Given the description of an element on the screen output the (x, y) to click on. 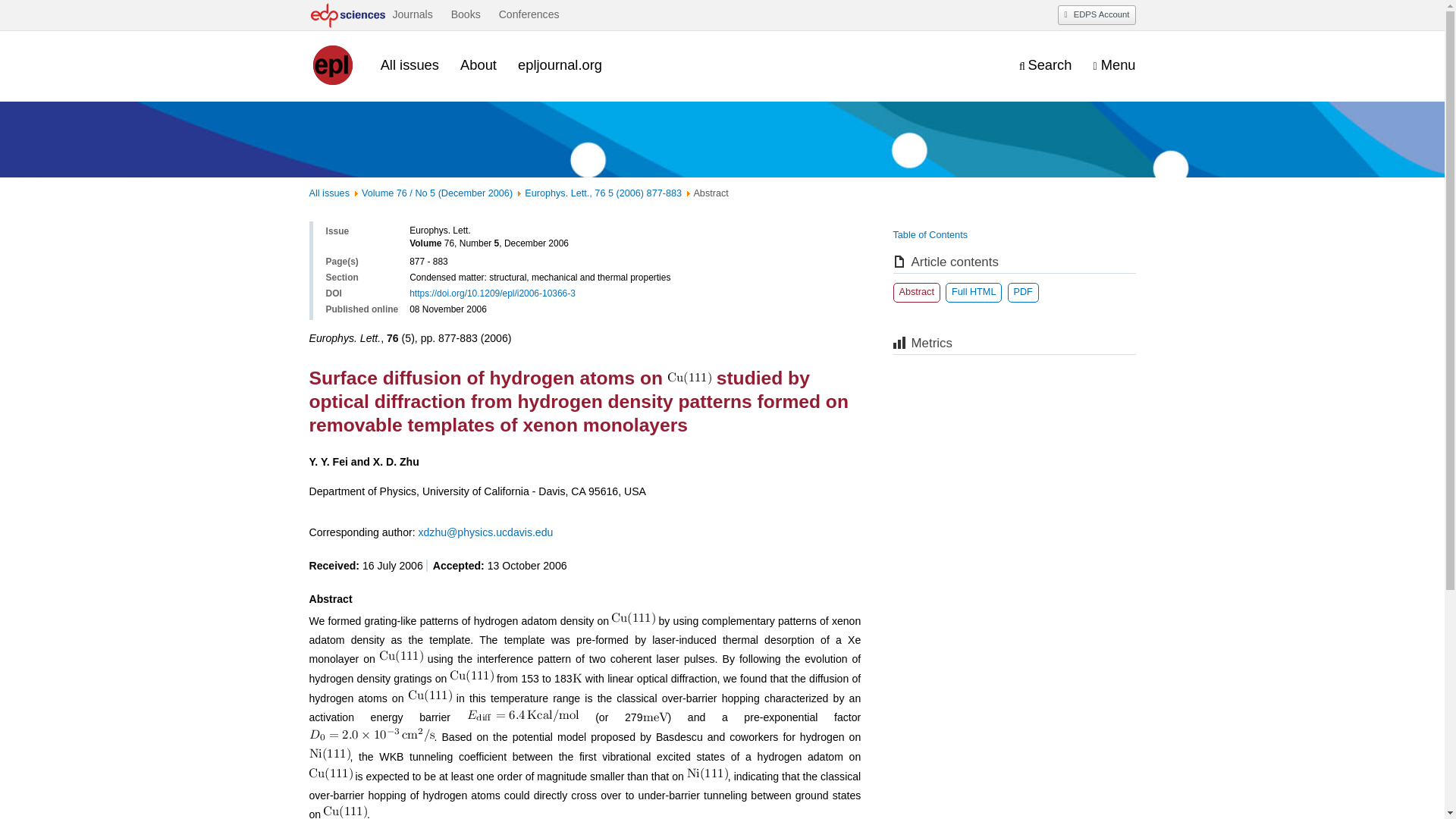
All issues (409, 65)
epljournal.org (560, 65)
Journal homepage (333, 65)
Display the search engine (1045, 66)
Journals (411, 14)
Menu (1114, 66)
Conferences (529, 14)
About (478, 65)
Books (465, 14)
PDF (1022, 292)
